Given the description of an element on the screen output the (x, y) to click on. 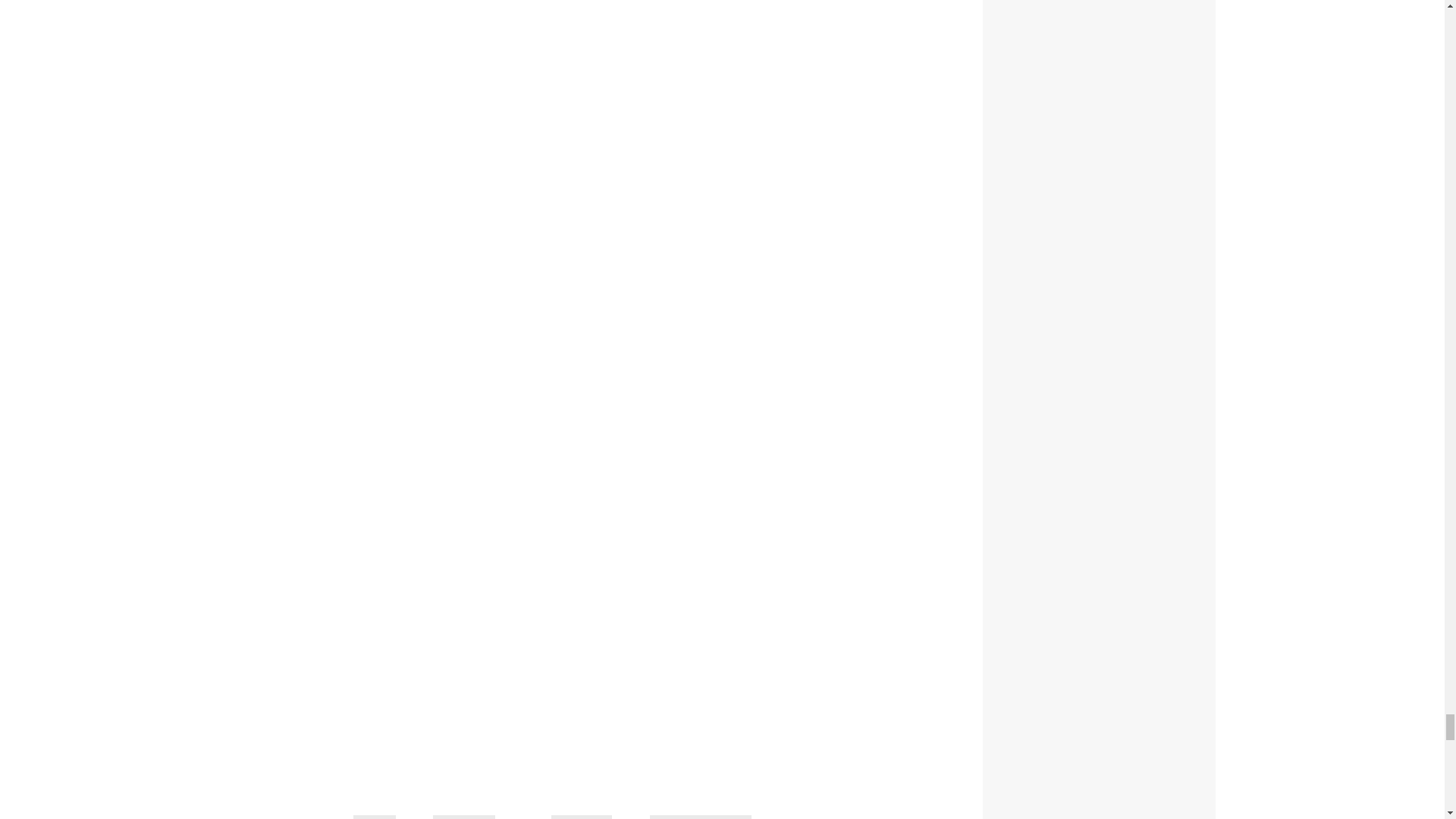
300,000-499,999 (700, 816)
Sold (374, 816)
Missouri (581, 816)
Victorian (463, 816)
